Given the description of an element on the screen output the (x, y) to click on. 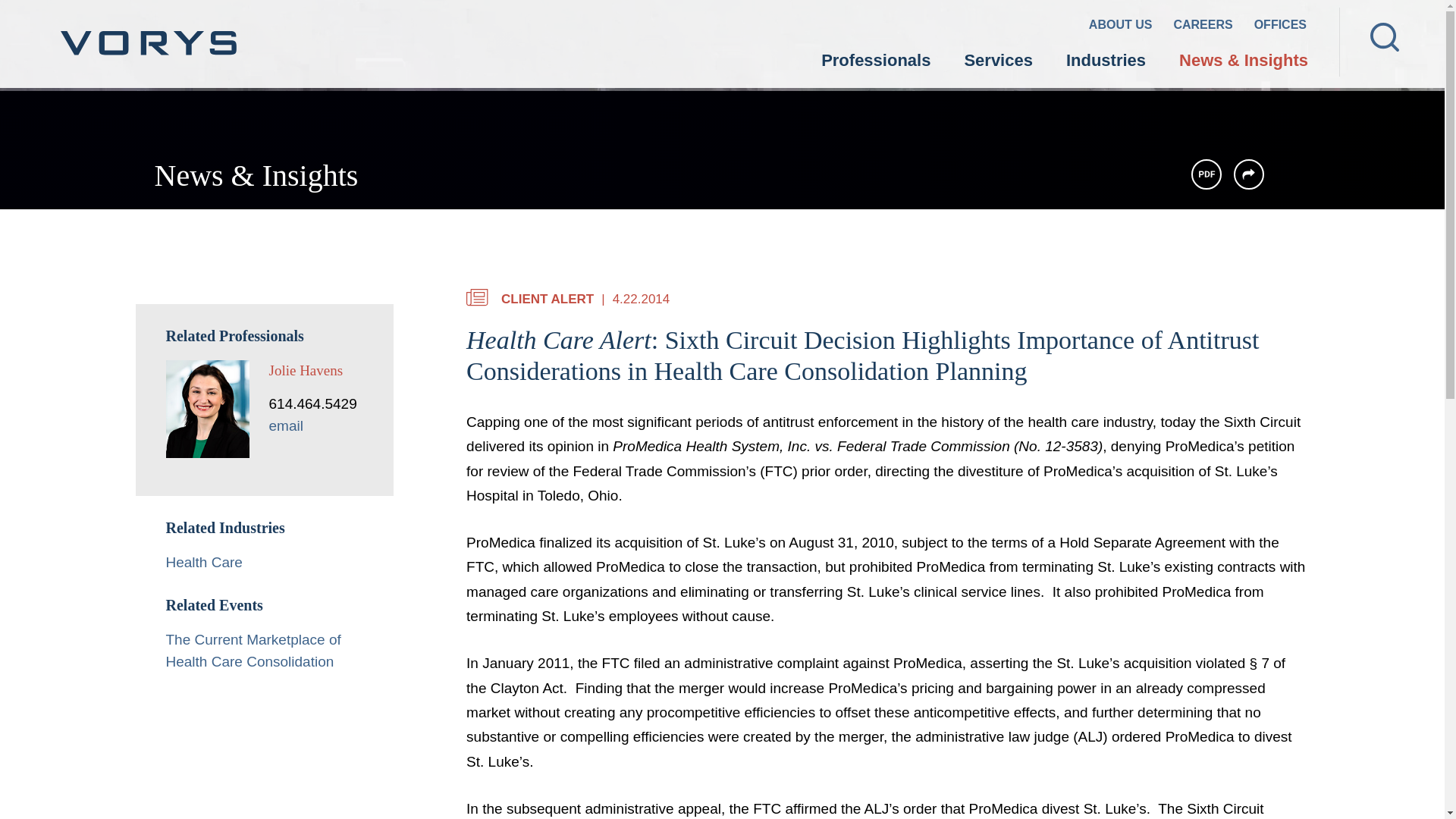
CAREERS (1202, 26)
OFFICES (1280, 26)
Search (1384, 36)
Services (998, 62)
ABOUT US (1120, 26)
Share (1248, 173)
Menu (674, 20)
Main Content (667, 20)
Main Menu (674, 20)
Professionals (876, 62)
